Given the description of an element on the screen output the (x, y) to click on. 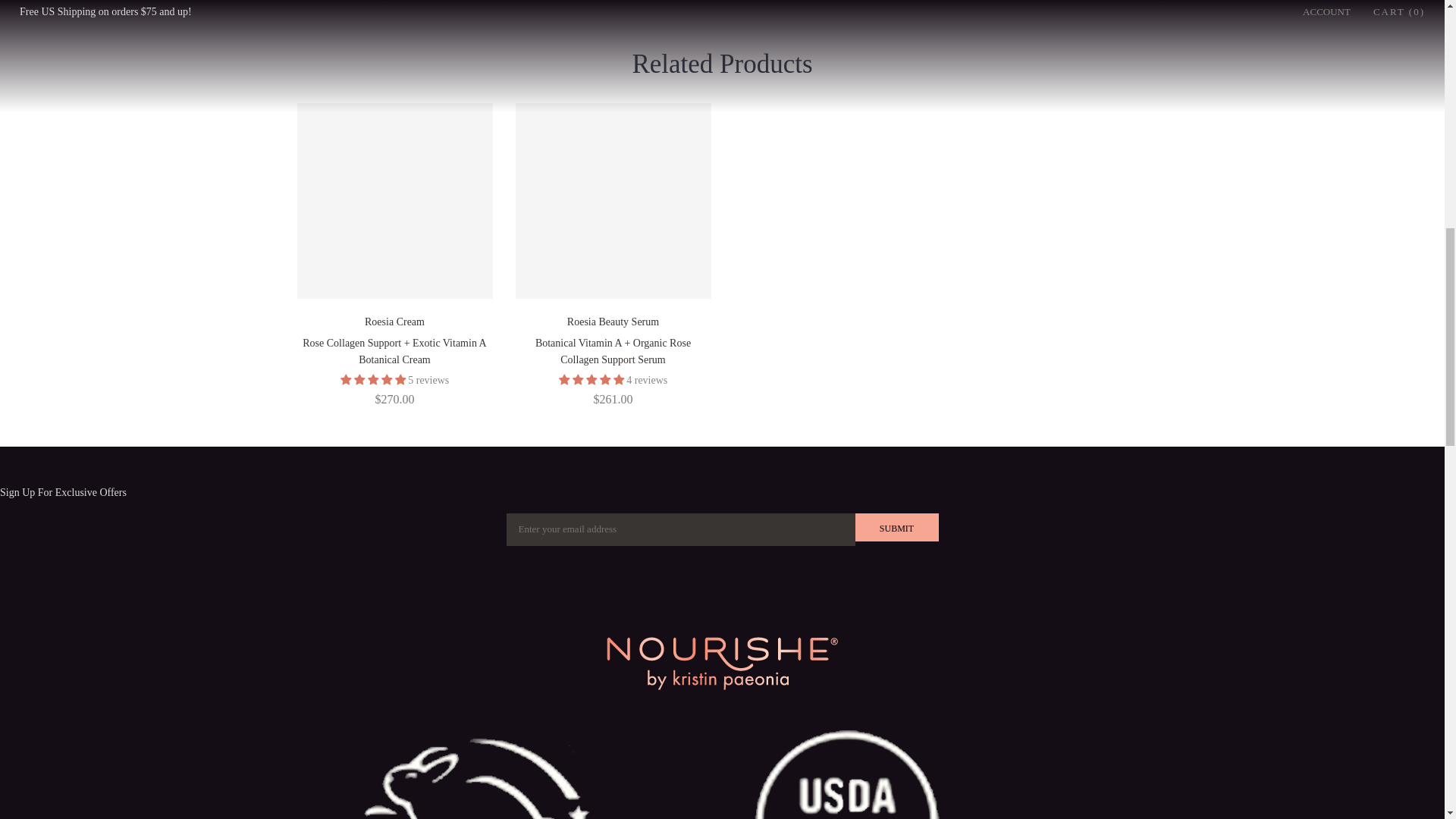
Roesia Beauty Serum (613, 321)
SUBMIT (897, 527)
Roesia Cream (395, 321)
